Given the description of an element on the screen output the (x, y) to click on. 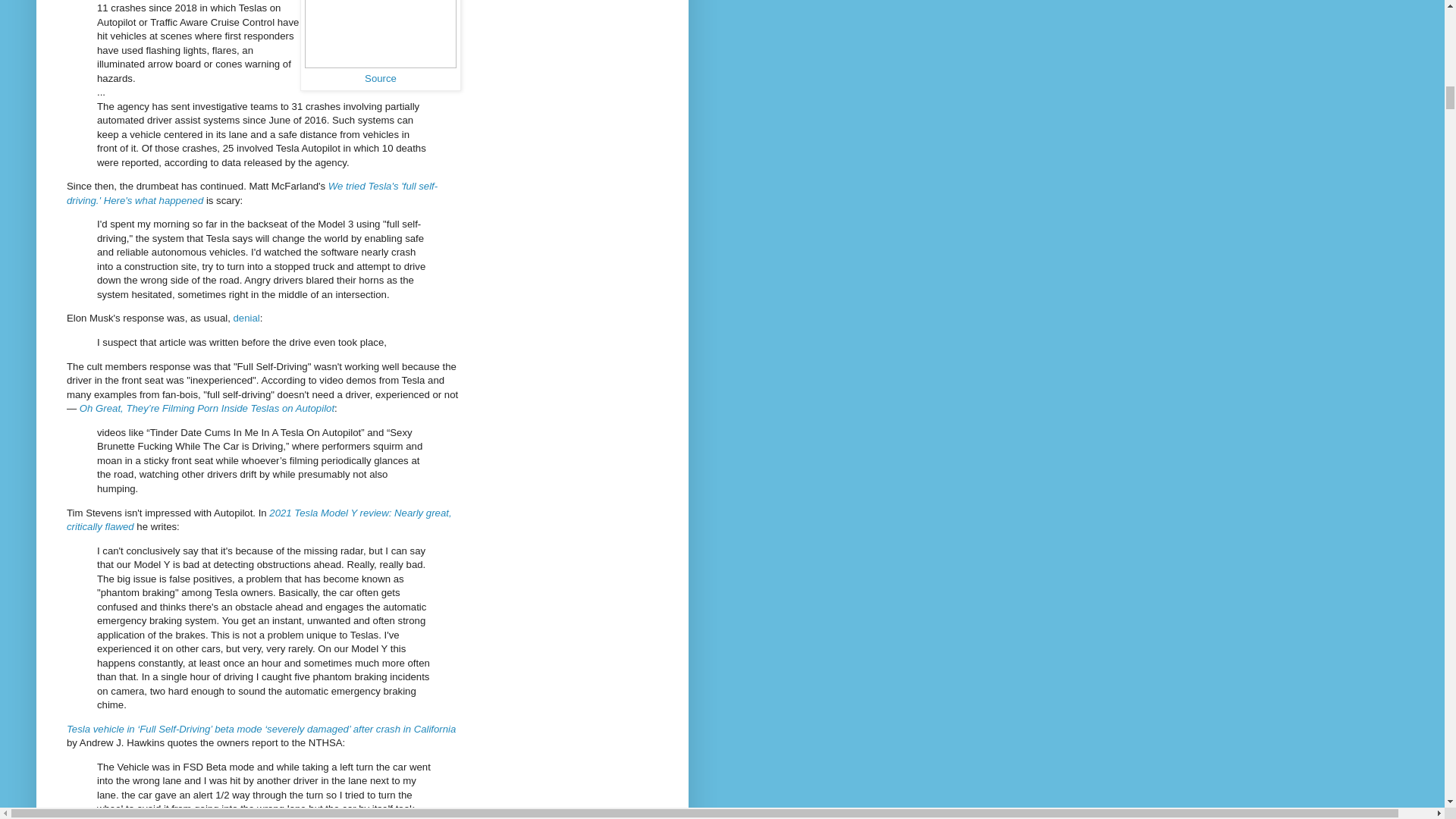
Source (380, 78)
We tried Tesla's 'full self-driving.' Here's what happened (252, 192)
